Given the description of an element on the screen output the (x, y) to click on. 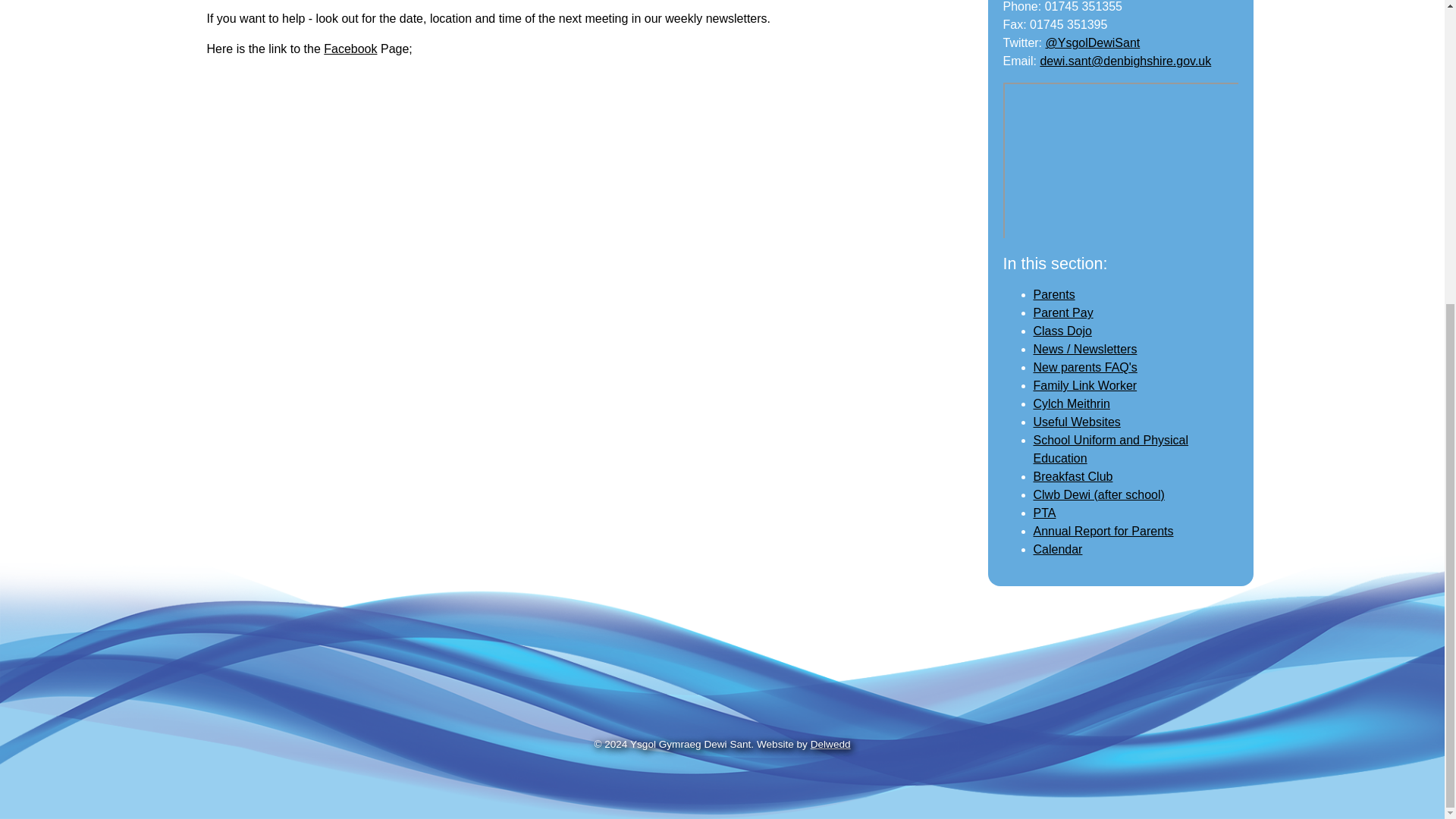
Facebook (350, 48)
